Given the description of an element on the screen output the (x, y) to click on. 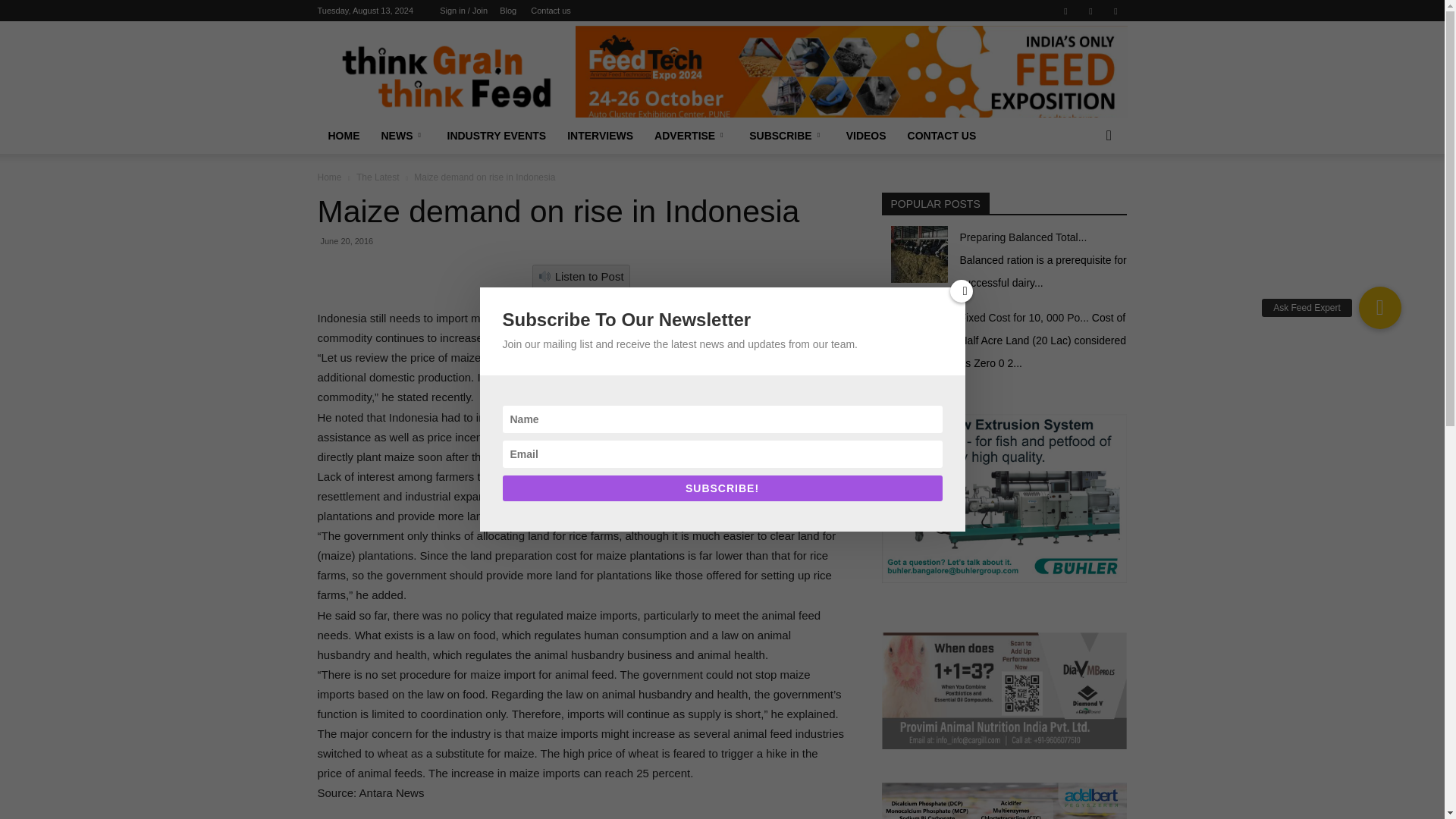
HOME (343, 135)
Linkedin (1090, 10)
Contact us (550, 10)
Twitter (1114, 10)
NEWS (402, 135)
View all posts in The Latest (377, 176)
Facebook (1065, 10)
Blog (507, 10)
